Given the description of an element on the screen output the (x, y) to click on. 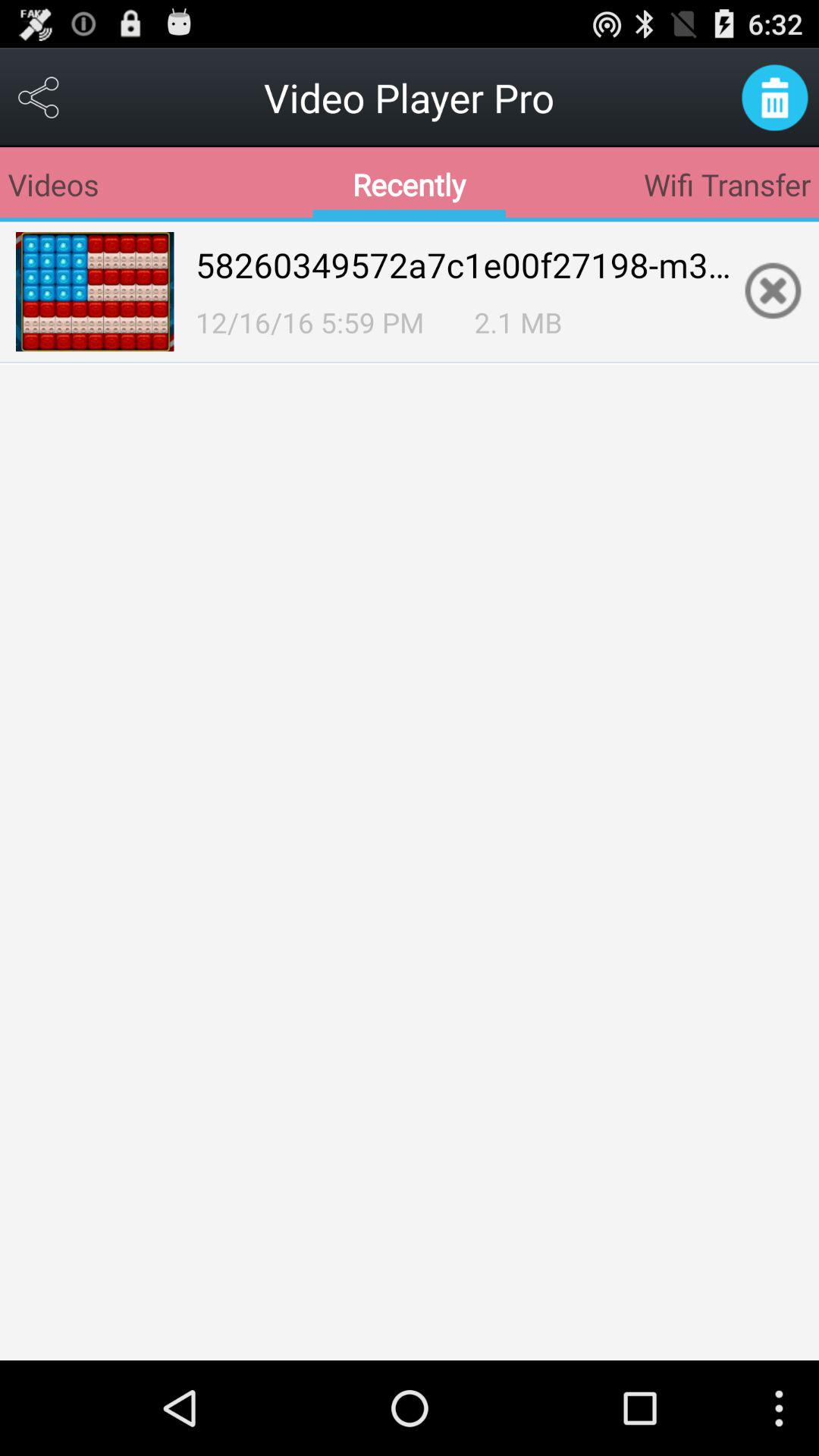
share the article (39, 97)
